Given the description of an element on the screen output the (x, y) to click on. 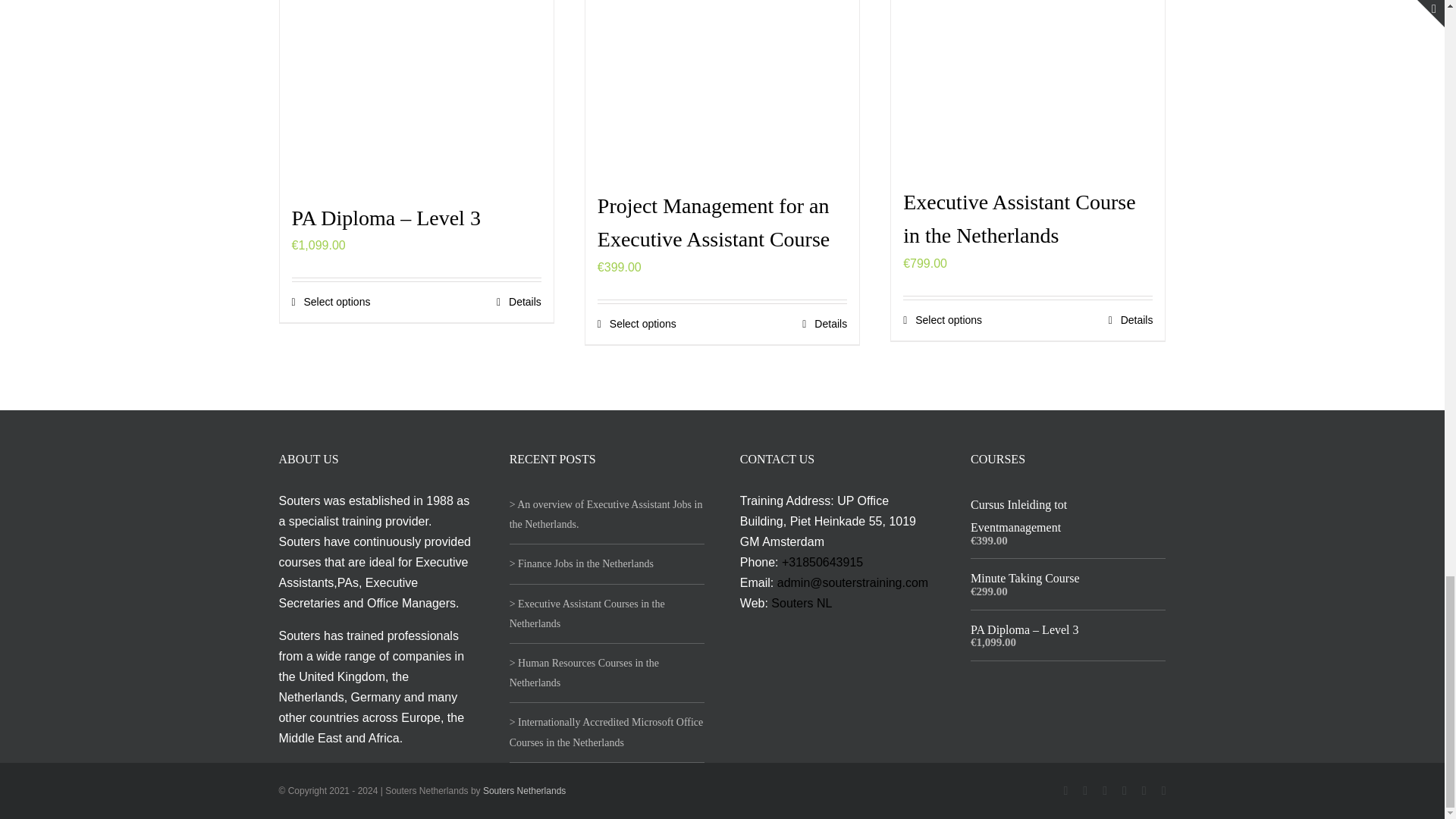
Project Management for an Executive Assistant Course (712, 222)
Select options (330, 302)
Select options (636, 324)
Select options (941, 320)
Details (824, 324)
Details (518, 302)
Executive Assistant Course in the Netherlands (1018, 219)
